Given the description of an element on the screen output the (x, y) to click on. 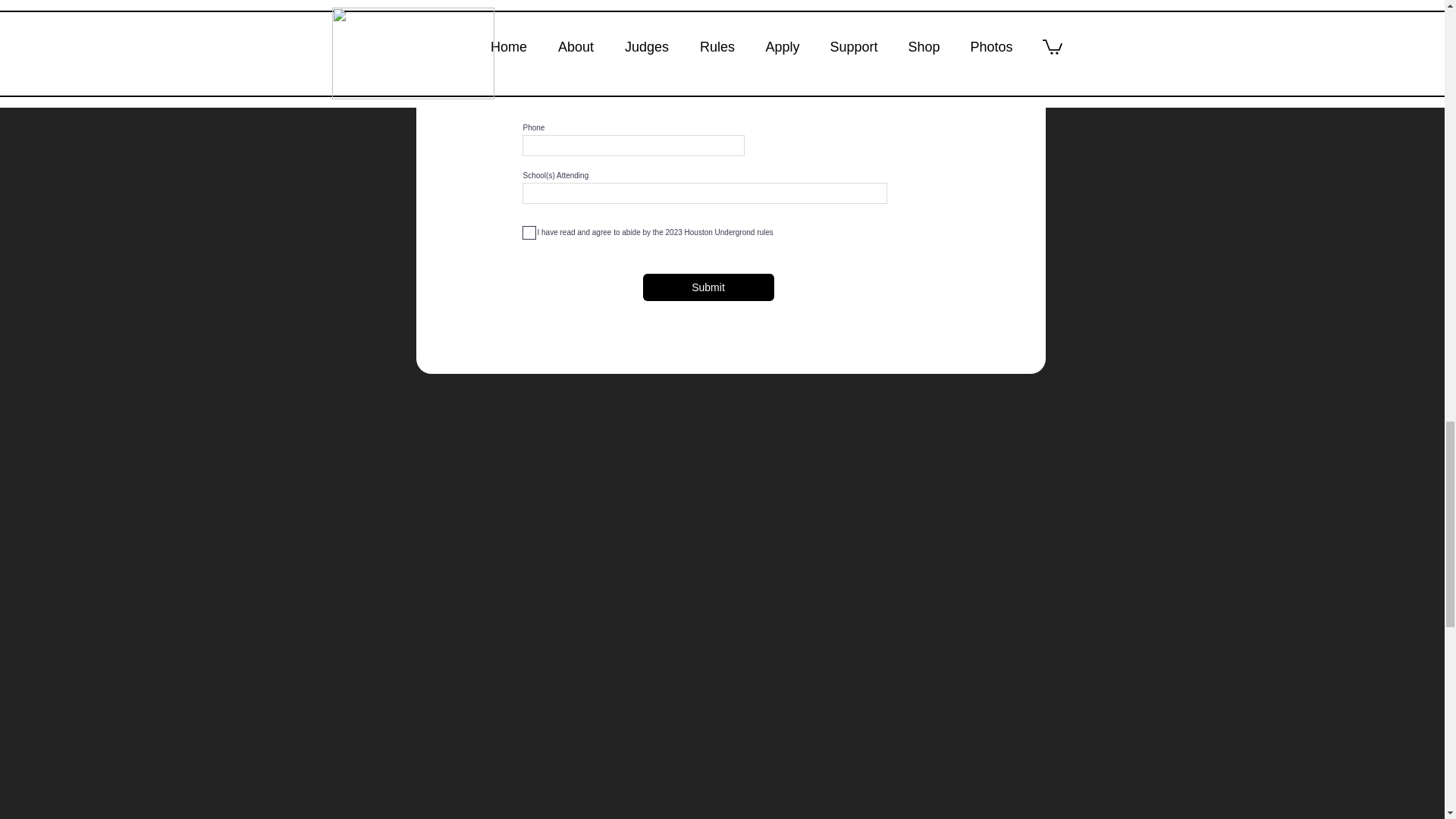
Submit (708, 287)
